Given the description of an element on the screen output the (x, y) to click on. 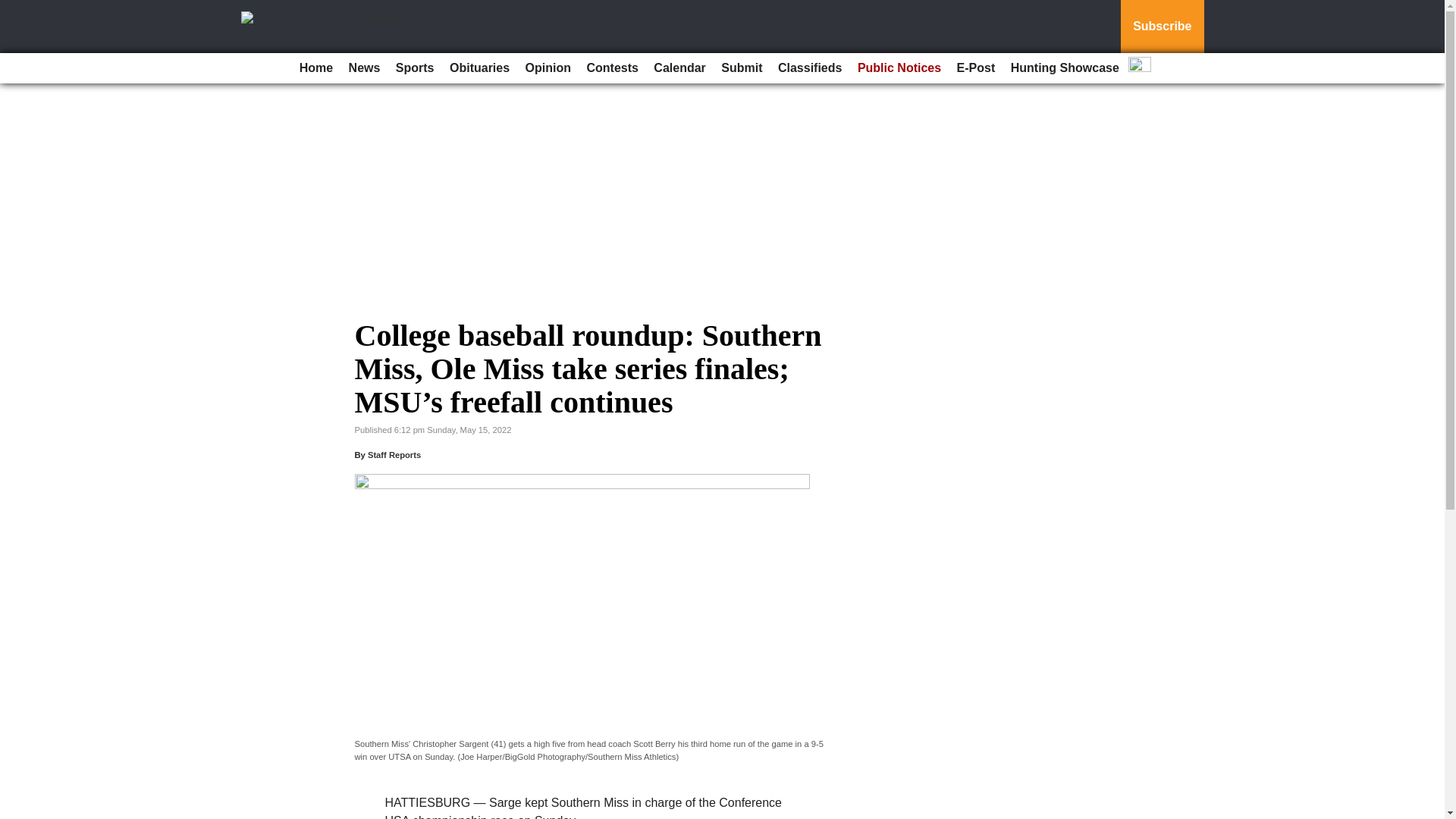
Hunting Showcase (1064, 68)
Staff Reports (394, 454)
Public Notices (899, 68)
News (364, 68)
Home (316, 68)
Sports (415, 68)
Obituaries (479, 68)
Subscribe (1162, 26)
E-Post (975, 68)
Calendar (679, 68)
